Given the description of an element on the screen output the (x, y) to click on. 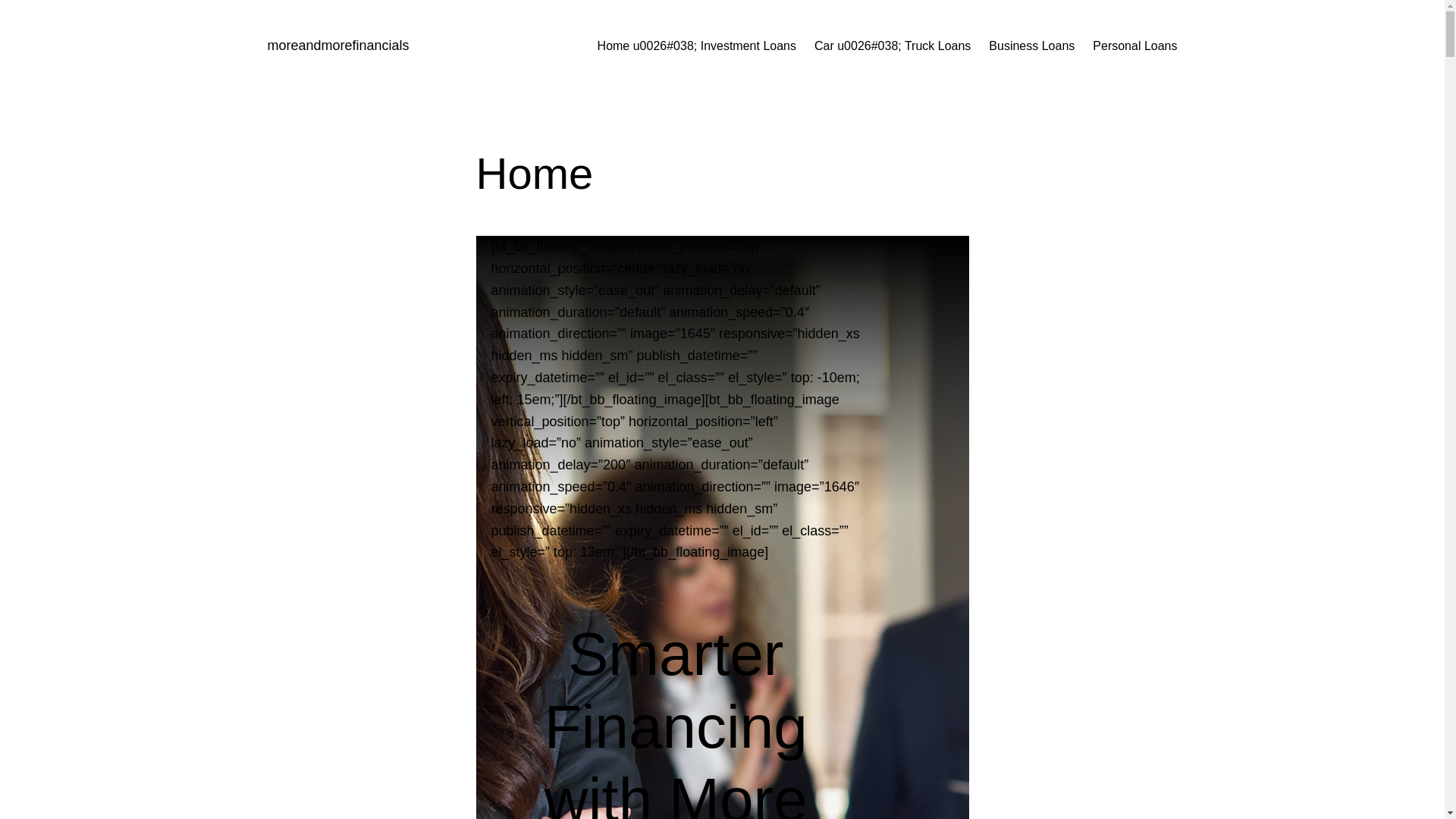
Home u0026#038; Investment Loans Element type: text (696, 46)
Car u0026#038; Truck Loans Element type: text (892, 46)
moreandmorefinancials Element type: text (337, 45)
Business Loans Element type: text (1031, 46)
Personal Loans Element type: text (1134, 46)
